Given the description of an element on the screen output the (x, y) to click on. 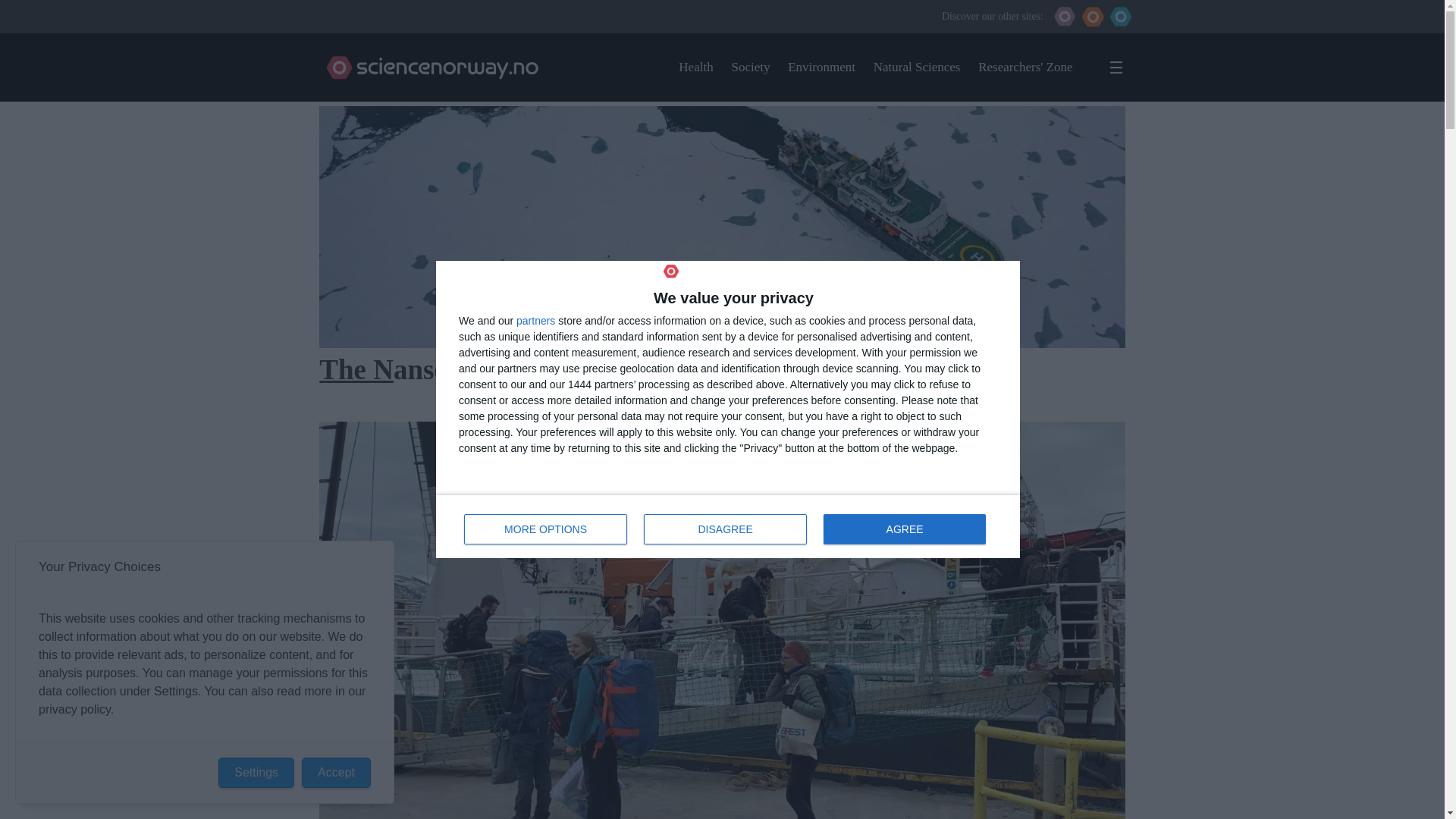
Society (750, 66)
AGREE (904, 529)
Health (695, 66)
DISAGREE (724, 529)
Natural Sciences (916, 66)
partners (727, 525)
MORE OPTIONS (535, 320)
Researchers' Zone (545, 529)
Environment (1024, 66)
